Given the description of an element on the screen output the (x, y) to click on. 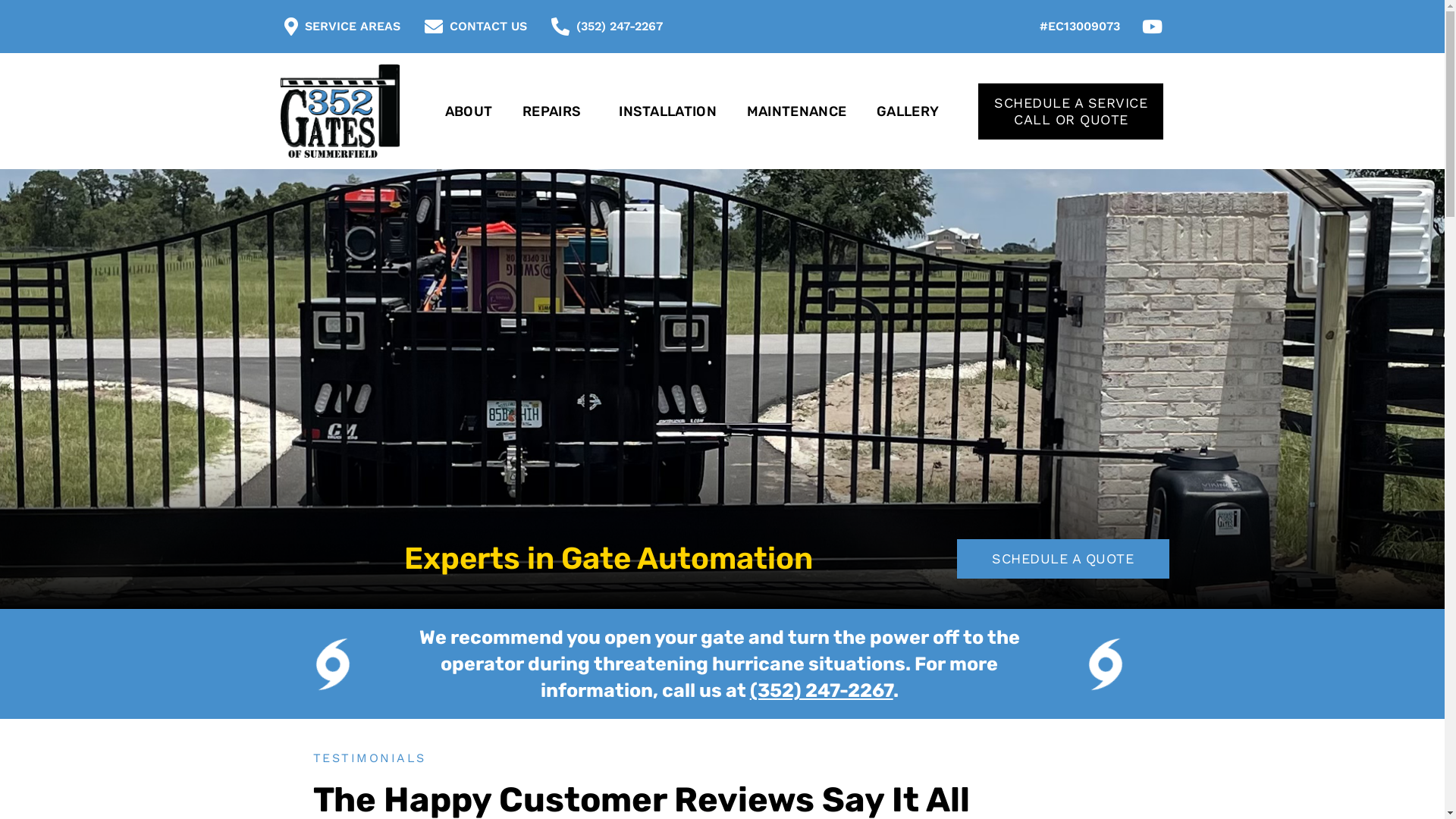
REPAIRS Element type: text (555, 111)
GALLERY Element type: text (907, 111)
SCHEDULE A QUOTE Element type: text (1063, 558)
MAINTENANCE Element type: text (796, 111)
ABOUT Element type: text (468, 111)
CONTACT US Element type: text (473, 26)
(352) 247-2267 Element type: text (604, 26)
SERVICE AREAS Element type: text (336, 26)
INSTALLATION Element type: text (667, 111)
(352) 247-2267 Element type: text (821, 690)
SCHEDULE A SERVICE CALL OR QUOTE Element type: text (1070, 111)
